Given the description of an element on the screen output the (x, y) to click on. 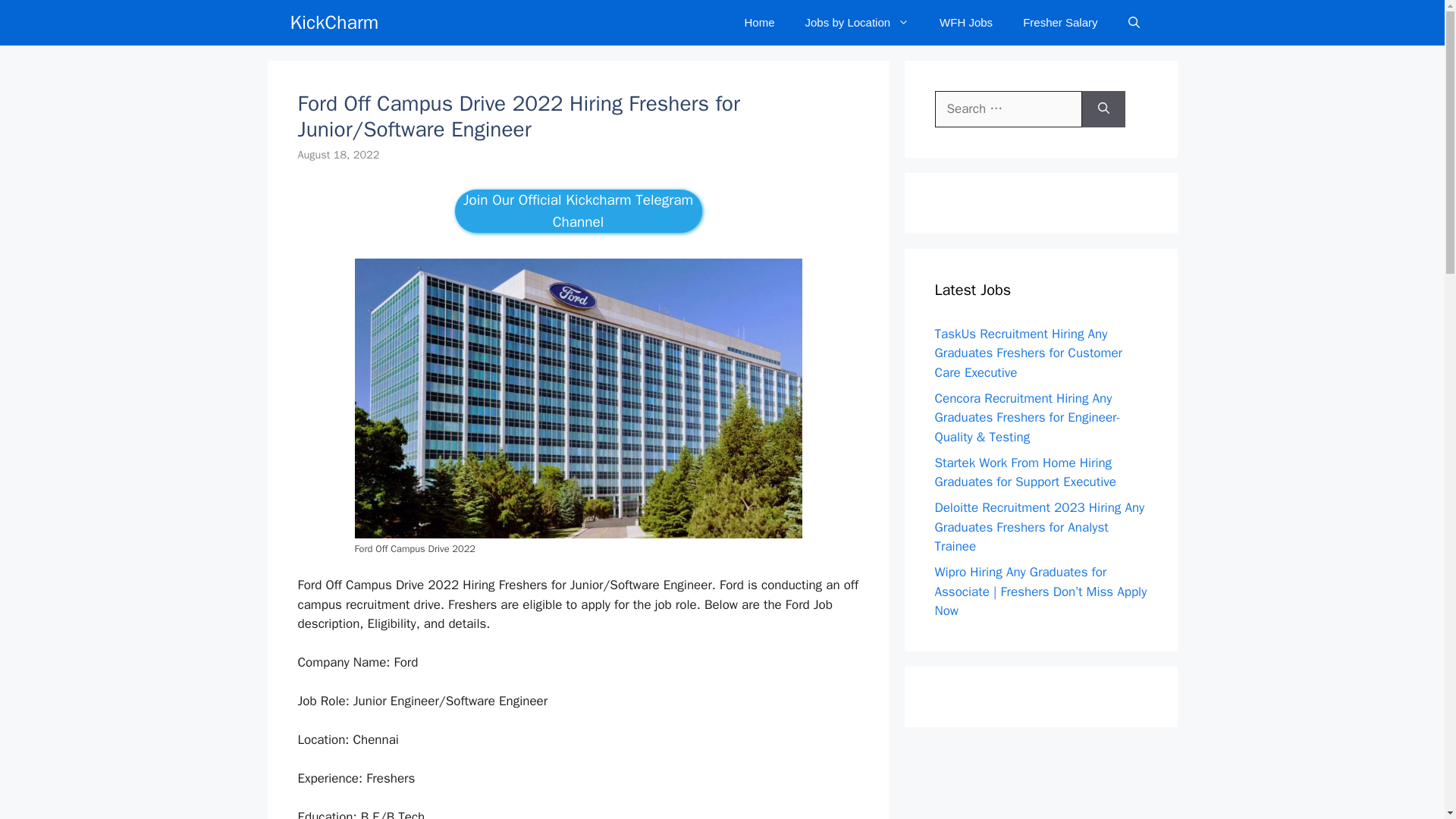
Home (759, 22)
Join Our Official Kickcharm Telegram Channel (577, 210)
Search for: (1007, 108)
Ford Off Campus Drive 2022 (578, 398)
WFH Jobs (965, 22)
Jobs by Location (857, 22)
Fresher Salary (1059, 22)
Kickcharm telegram (577, 210)
KickCharm (333, 22)
